Given the description of an element on the screen output the (x, y) to click on. 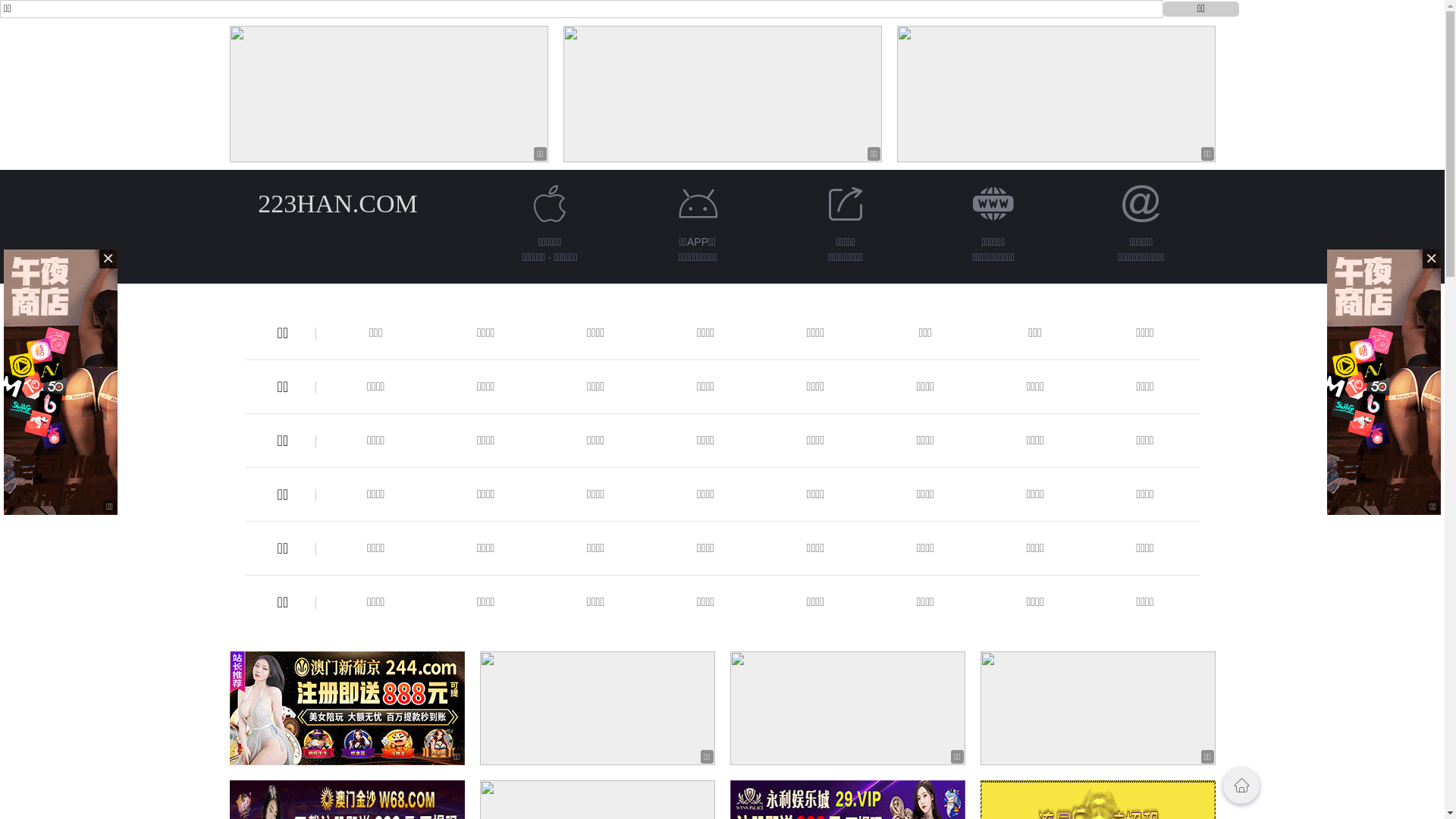
223HAN.COM Element type: text (337, 203)
